Given the description of an element on the screen output the (x, y) to click on. 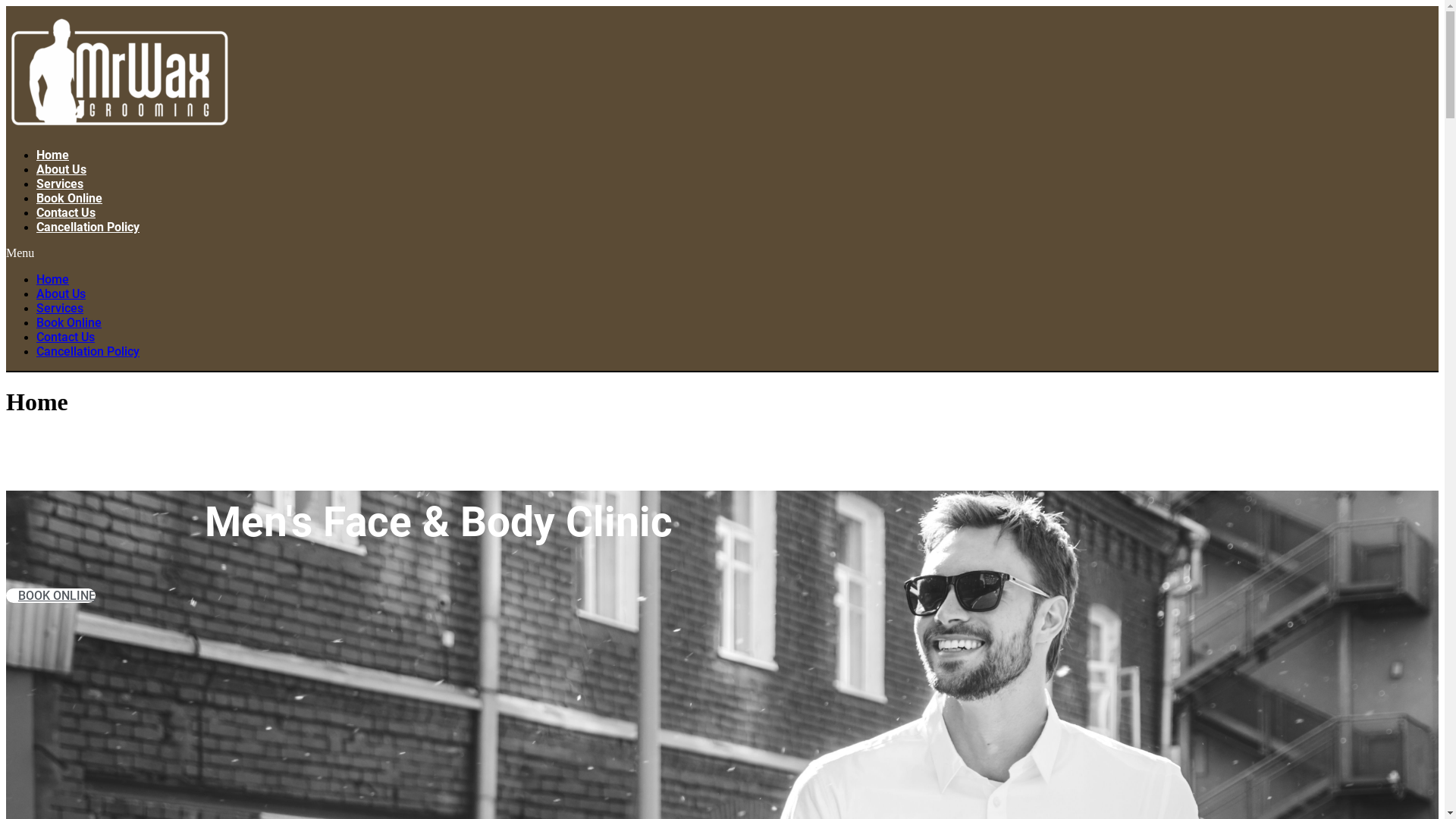
About Us Element type: text (60, 293)
Book Online Element type: text (68, 322)
Book Online Element type: text (69, 198)
BOOK ONLINE Element type: text (50, 595)
Cancellation Policy Element type: text (87, 226)
Skip to content Element type: text (5, 5)
Contact Us Element type: text (65, 212)
Cancellation Policy Element type: text (87, 351)
Home Element type: text (52, 279)
Home Element type: text (52, 154)
Services Element type: text (59, 308)
Contact Us Element type: text (65, 336)
About Us Element type: text (61, 169)
Services Element type: text (59, 183)
